Given the description of an element on the screen output the (x, y) to click on. 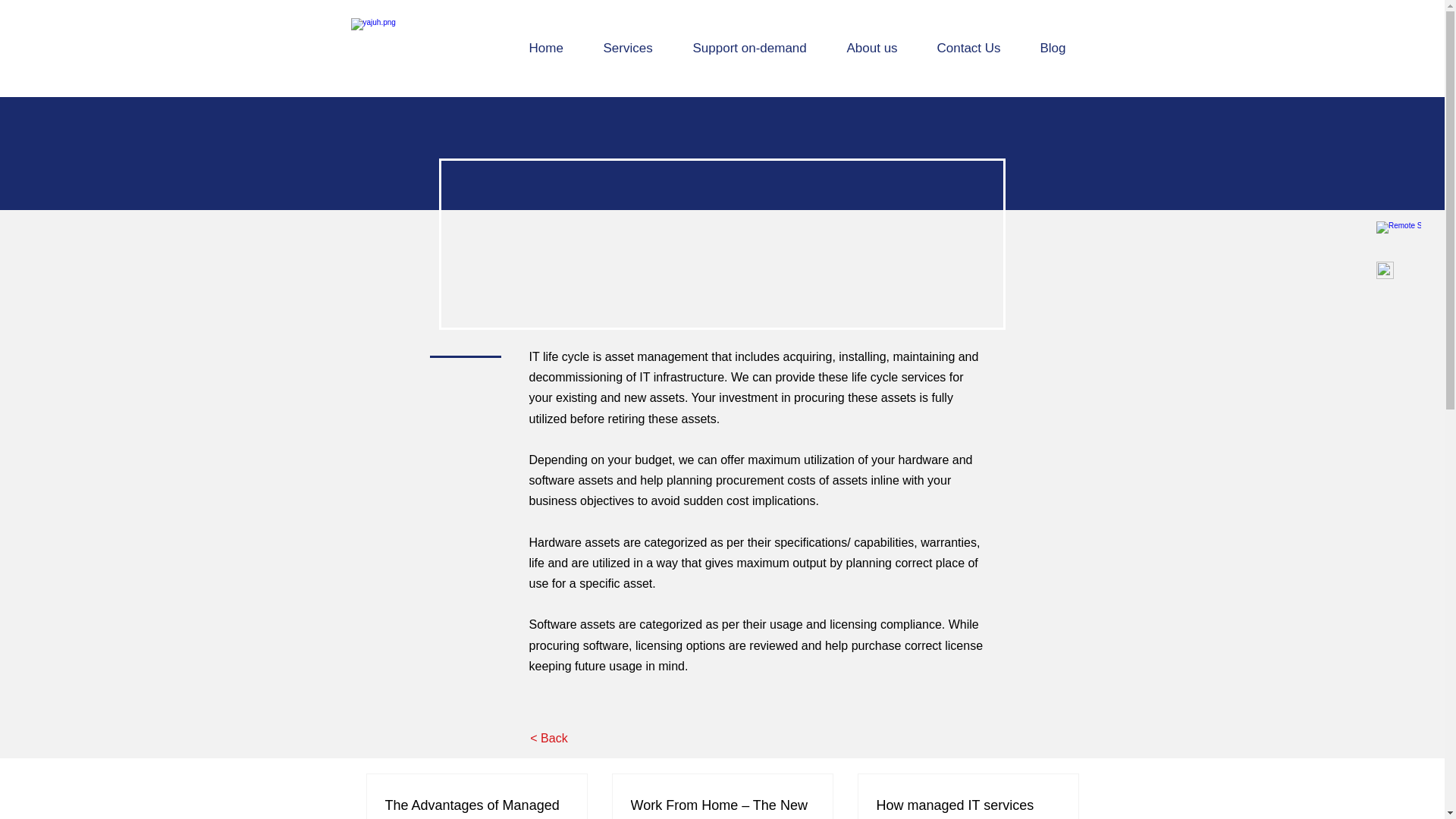
Services (636, 48)
Blog (1060, 48)
Contact Us (975, 48)
Support on-demand (757, 48)
Home (553, 48)
How managed IT services add value to your business (967, 807)
About us (880, 48)
